Given the description of an element on the screen output the (x, y) to click on. 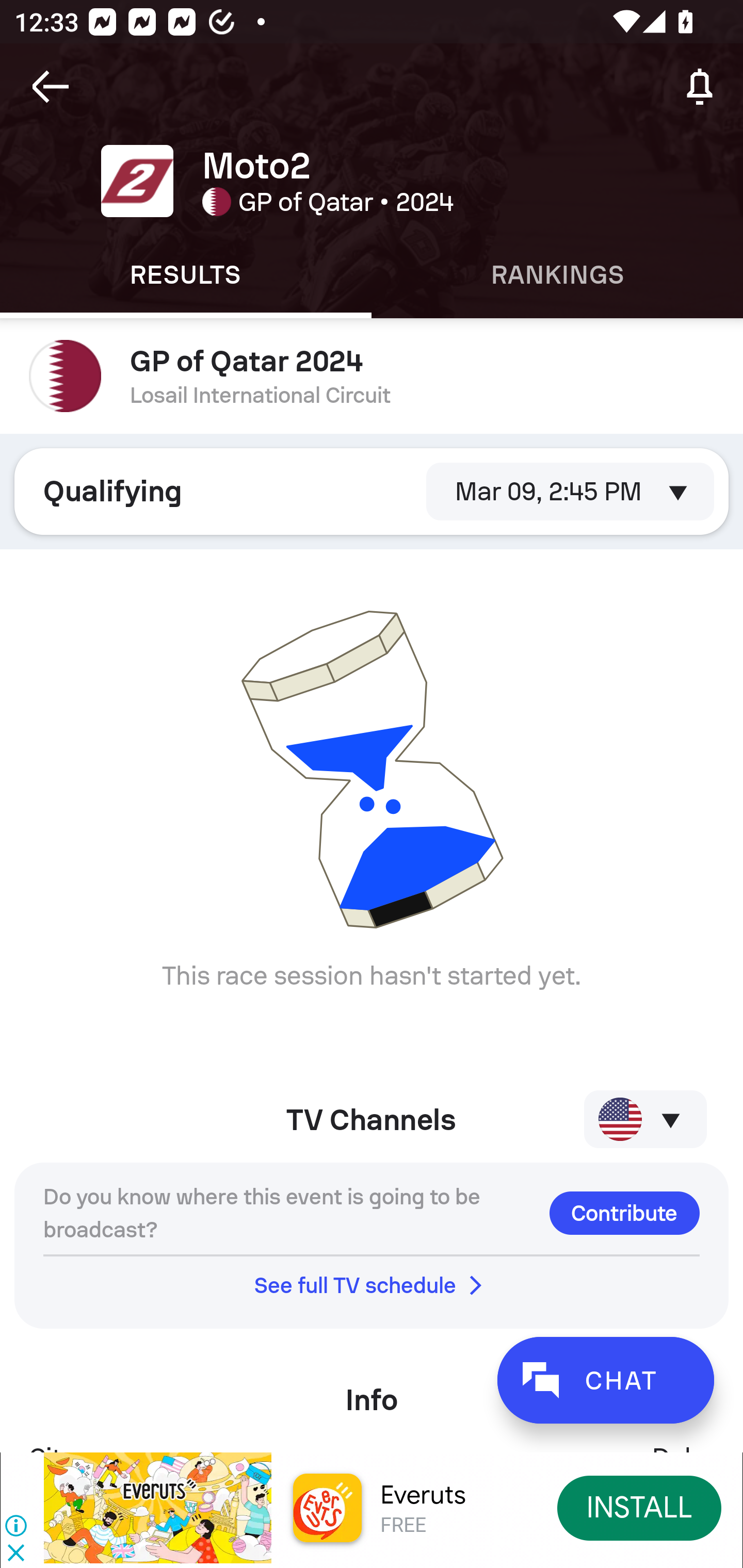
Navigate up (50, 86)
Rankings RANKINGS (557, 275)
Qualifying Mar 09, 2:45 PM (371, 491)
Mar 09, 2:45 PM (562, 491)
Contribute (624, 1212)
See full TV schedule (371, 1284)
CHAT (605, 1380)
INSTALL (639, 1507)
Everuts (422, 1494)
FREE (403, 1525)
